Given the description of an element on the screen output the (x, y) to click on. 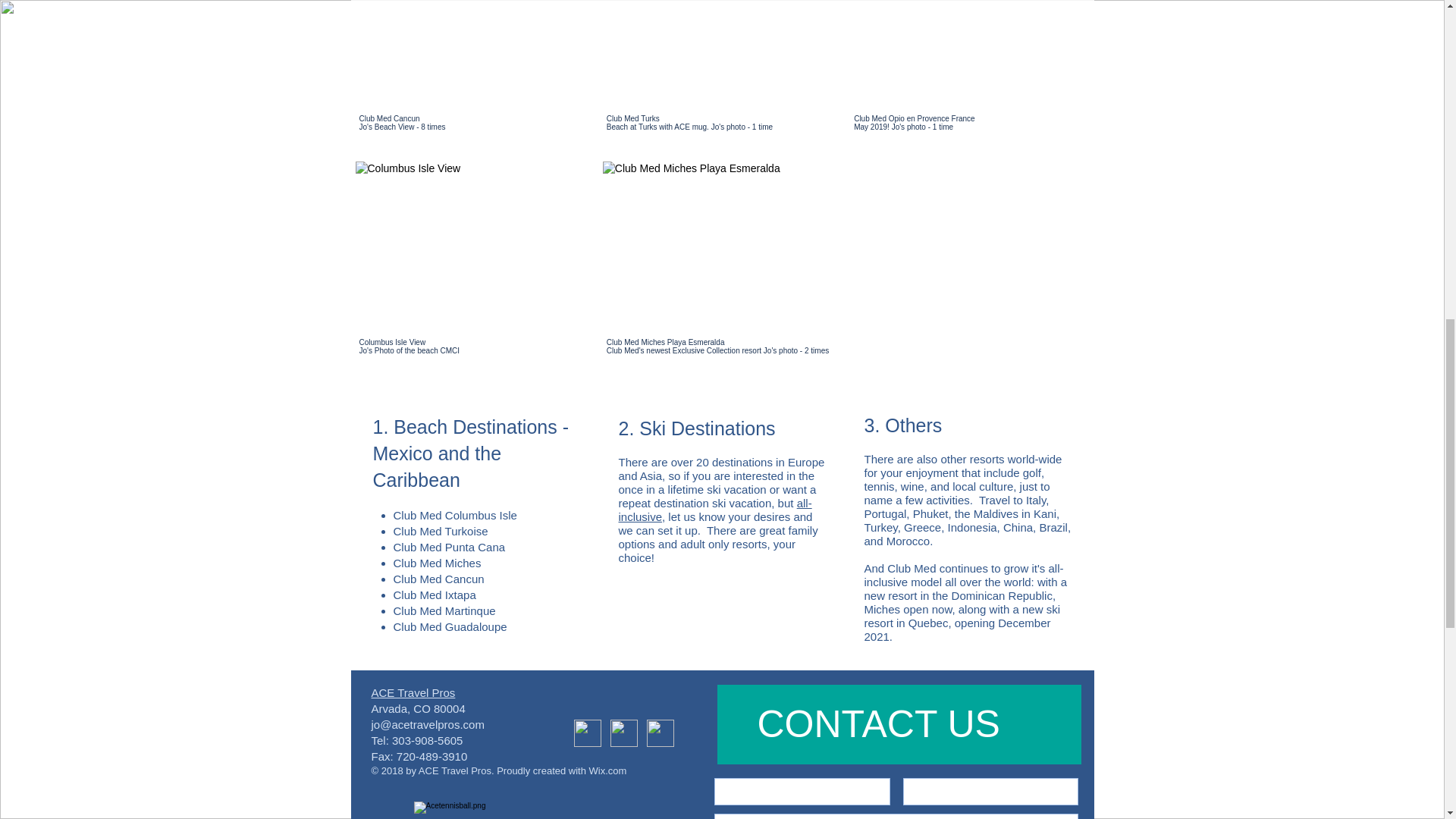
ACE Travel Pros (413, 692)
